Given the description of an element on the screen output the (x, y) to click on. 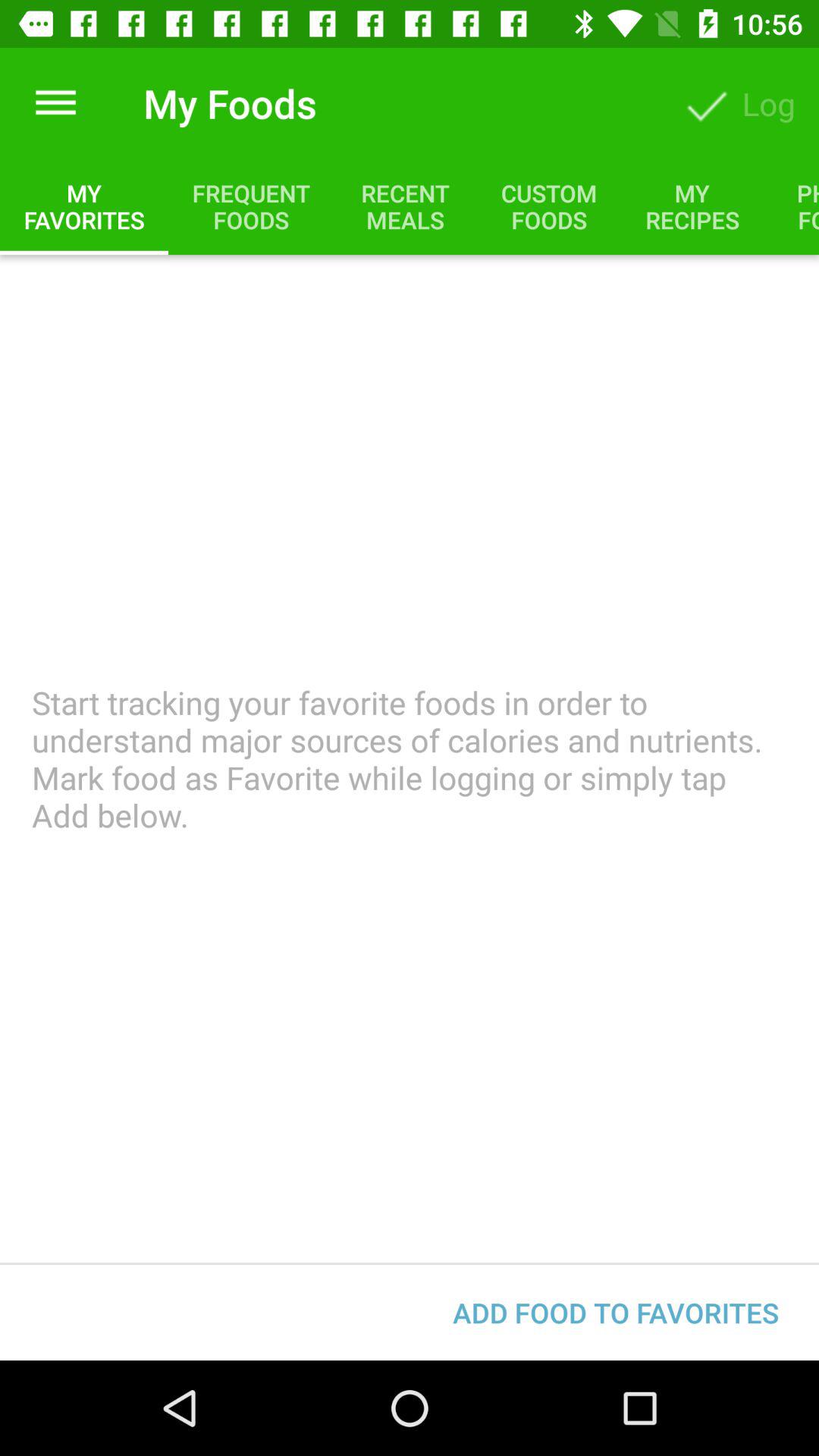
turn on item above the my
favorites (55, 103)
